Given the description of an element on the screen output the (x, y) to click on. 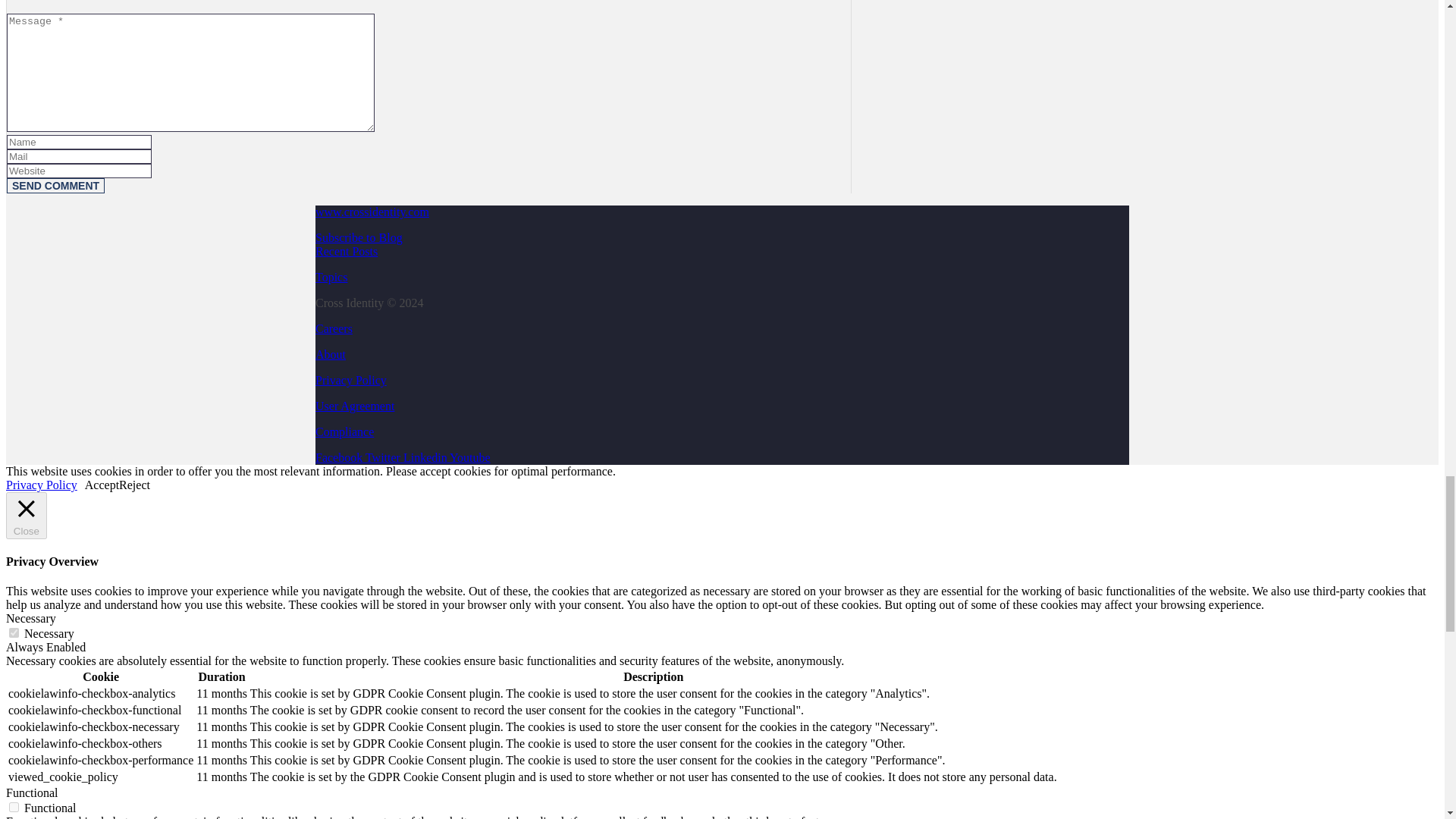
on (13, 807)
on (13, 633)
